Given the description of an element on the screen output the (x, y) to click on. 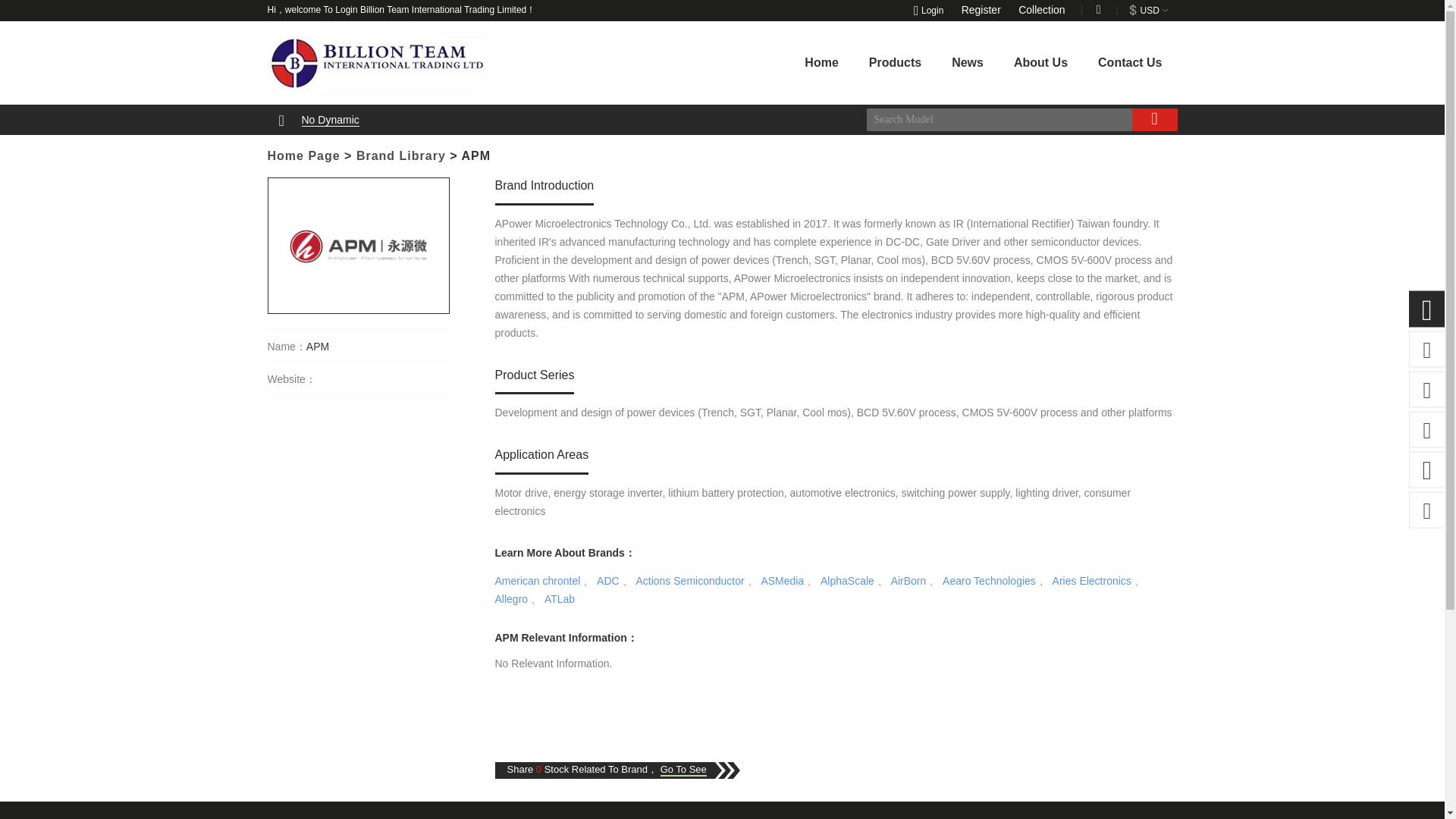
Collection (1044, 9)
Login (929, 9)
ASMedia (781, 580)
Register (988, 9)
Contact Us (1129, 62)
Home Page (302, 155)
ADC (608, 580)
Home (821, 62)
Go To See (683, 769)
Actions Semiconductor (689, 580)
USD (1149, 9)
Aearo Technologies (988, 580)
AirBorn (908, 580)
Aries Electronics (1091, 580)
AlphaScale (848, 580)
